Given the description of an element on the screen output the (x, y) to click on. 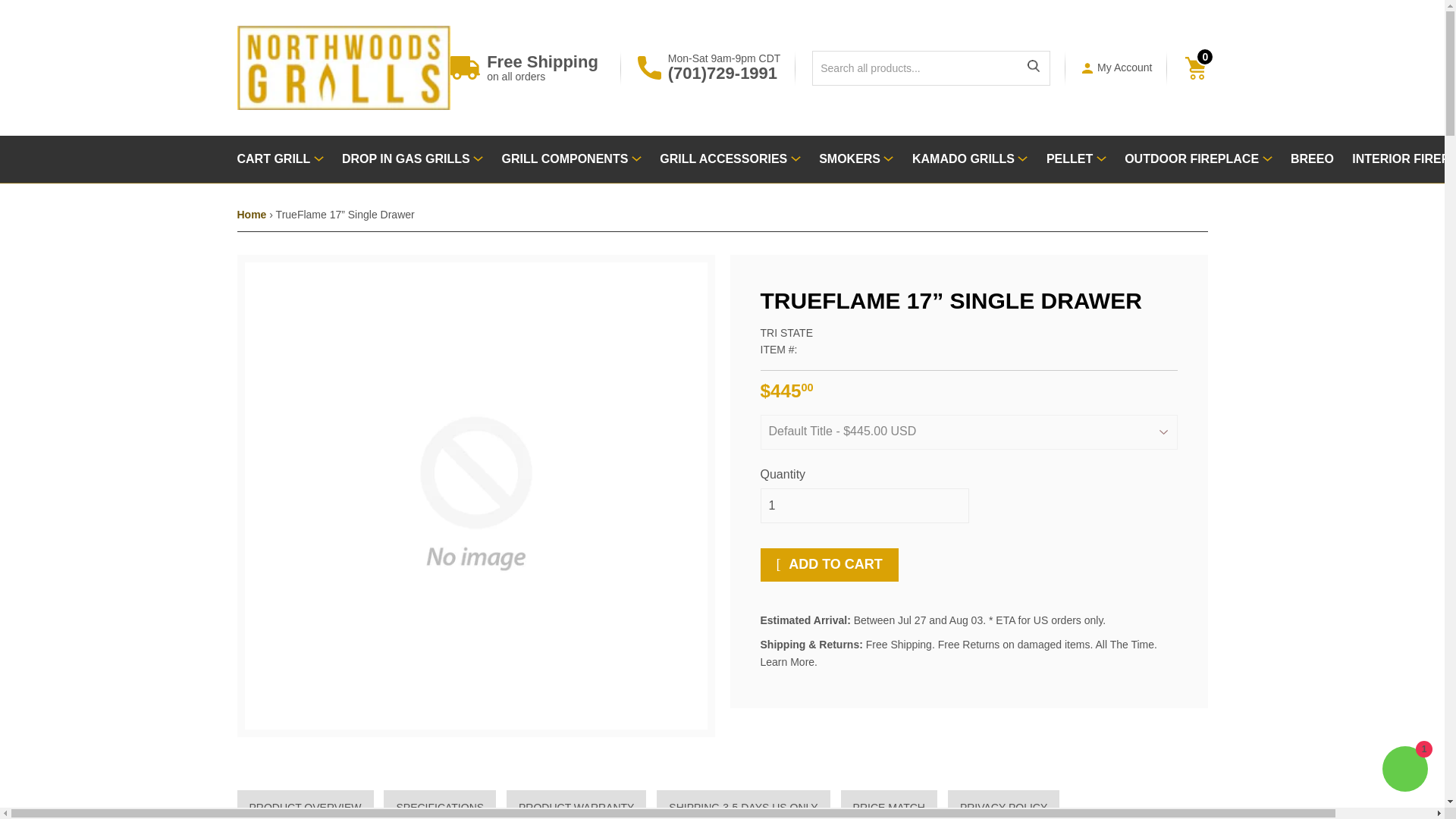
My Account (1124, 67)
1 (864, 505)
GRILL COMPONENTS (571, 158)
Search (1032, 67)
Shopify online store chat (1404, 770)
0 (1200, 67)
DROP IN GAS GRILLS (412, 158)
Back to the frontpage (250, 214)
CART GRILL (279, 158)
